Given the description of an element on the screen output the (x, y) to click on. 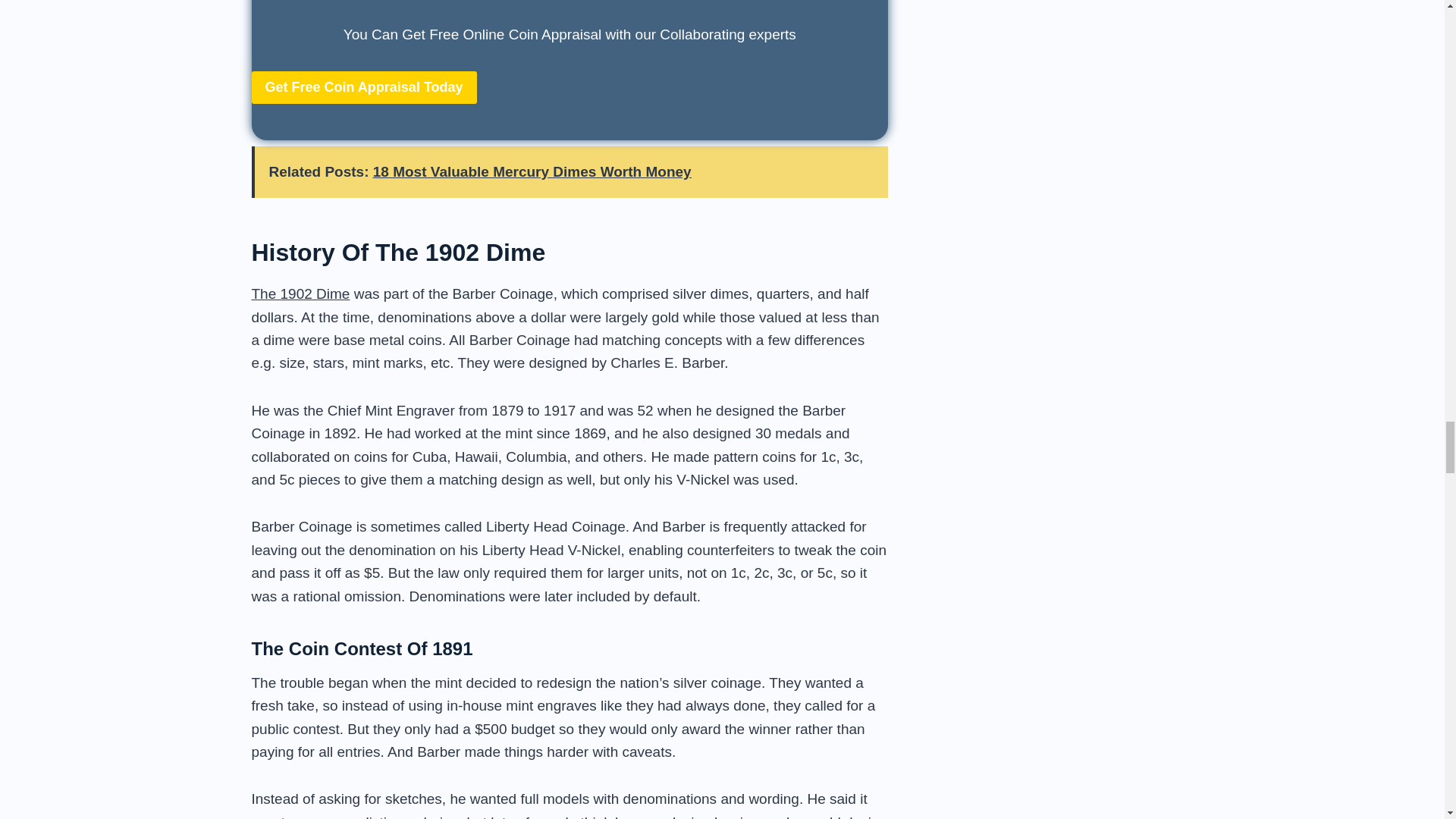
18 Most Valuable Mercury Dimes Worth Money (531, 171)
Get Free Coin Appraisal Today (364, 87)
The 1902 Dime (300, 293)
